Given the description of an element on the screen output the (x, y) to click on. 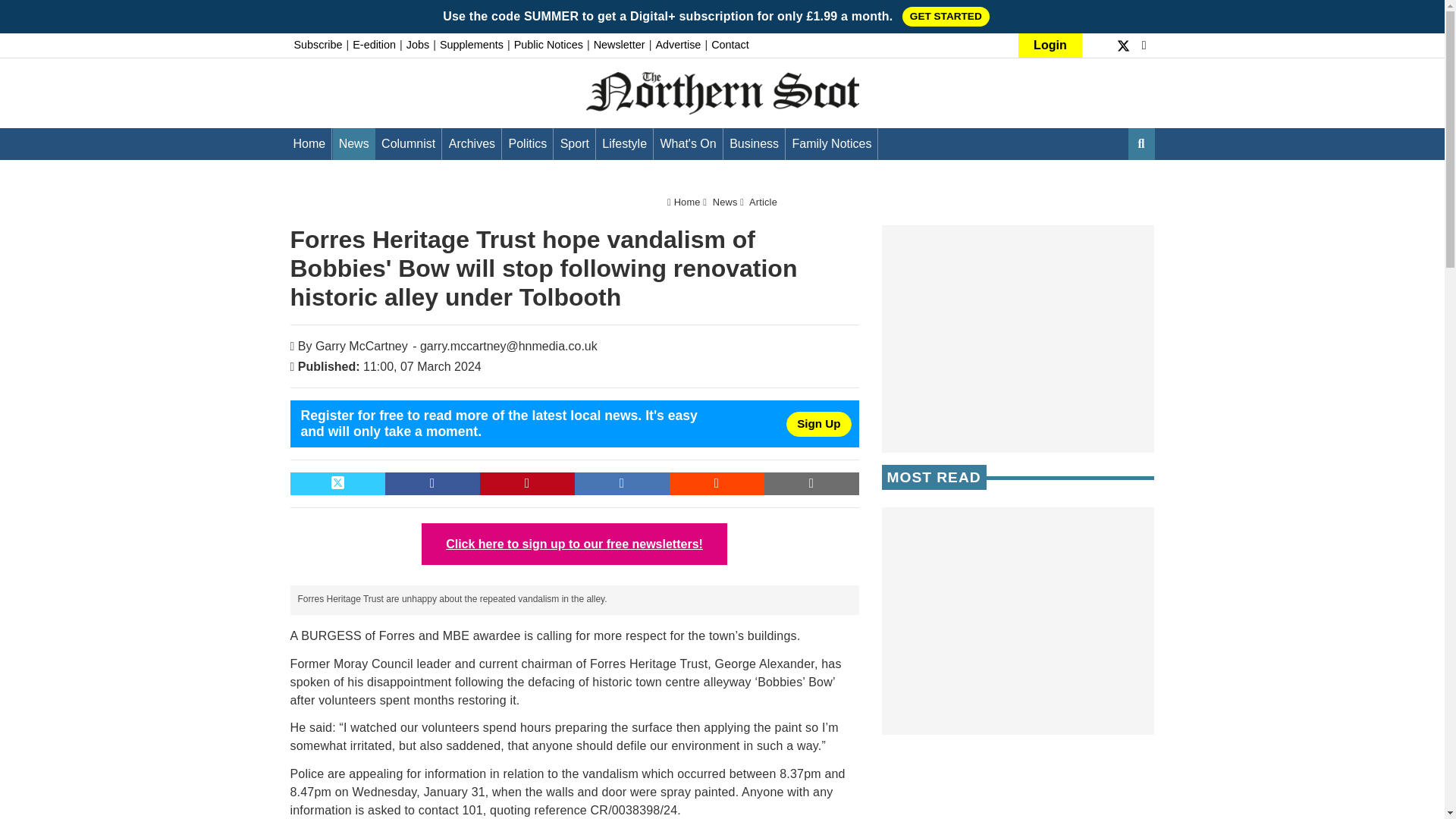
GET STARTED (946, 16)
